Given the description of an element on the screen output the (x, y) to click on. 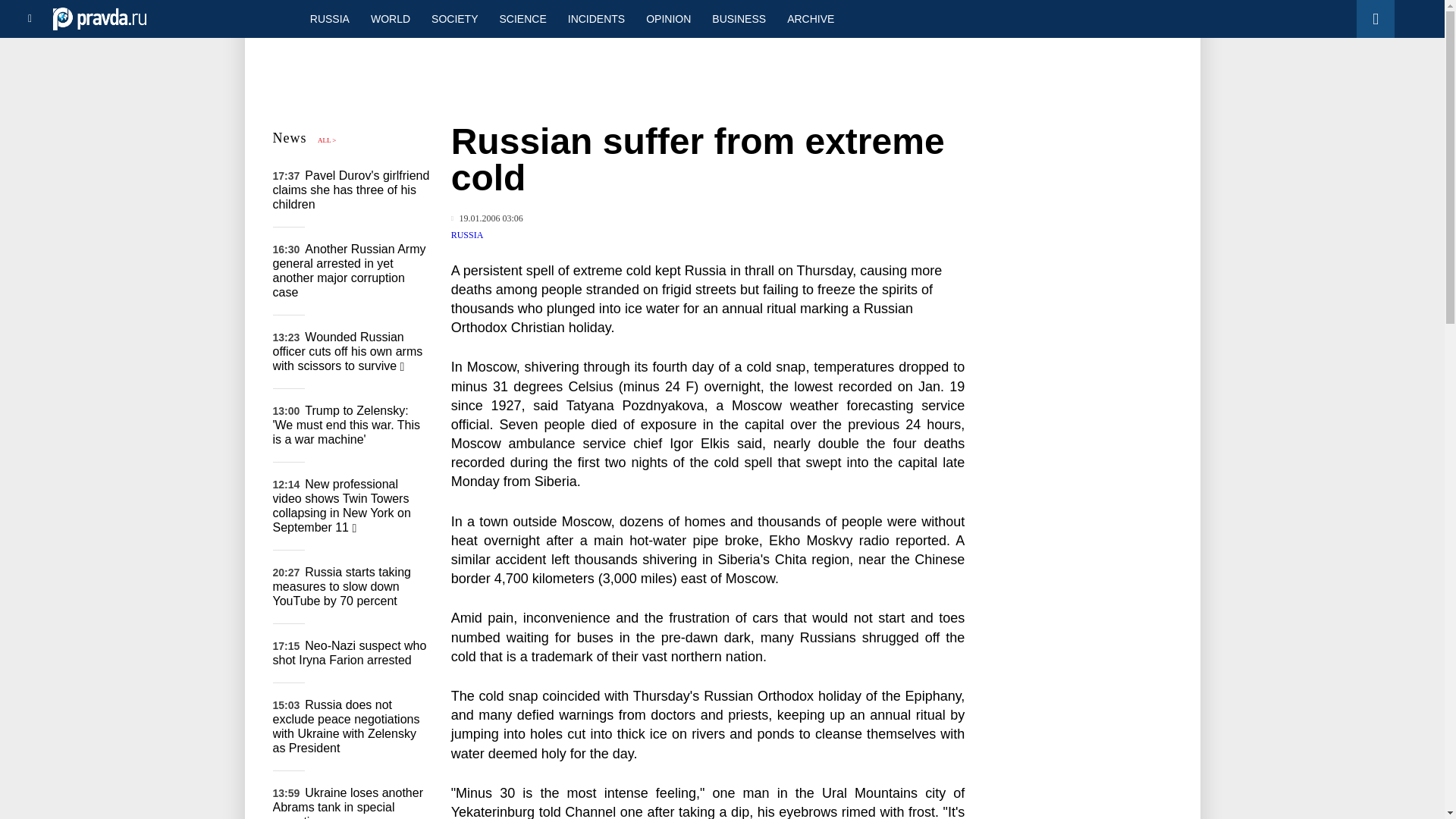
OPINION (667, 18)
News (290, 137)
ARCHIVE (810, 18)
RUSSIA (467, 235)
RUSSIA (329, 18)
BUSINESS (738, 18)
SOCIETY (453, 18)
WORLD (389, 18)
INCIDENTS (595, 18)
Neo-Nazi suspect who shot Iryna Farion arrested (349, 652)
